Given the description of an element on the screen output the (x, y) to click on. 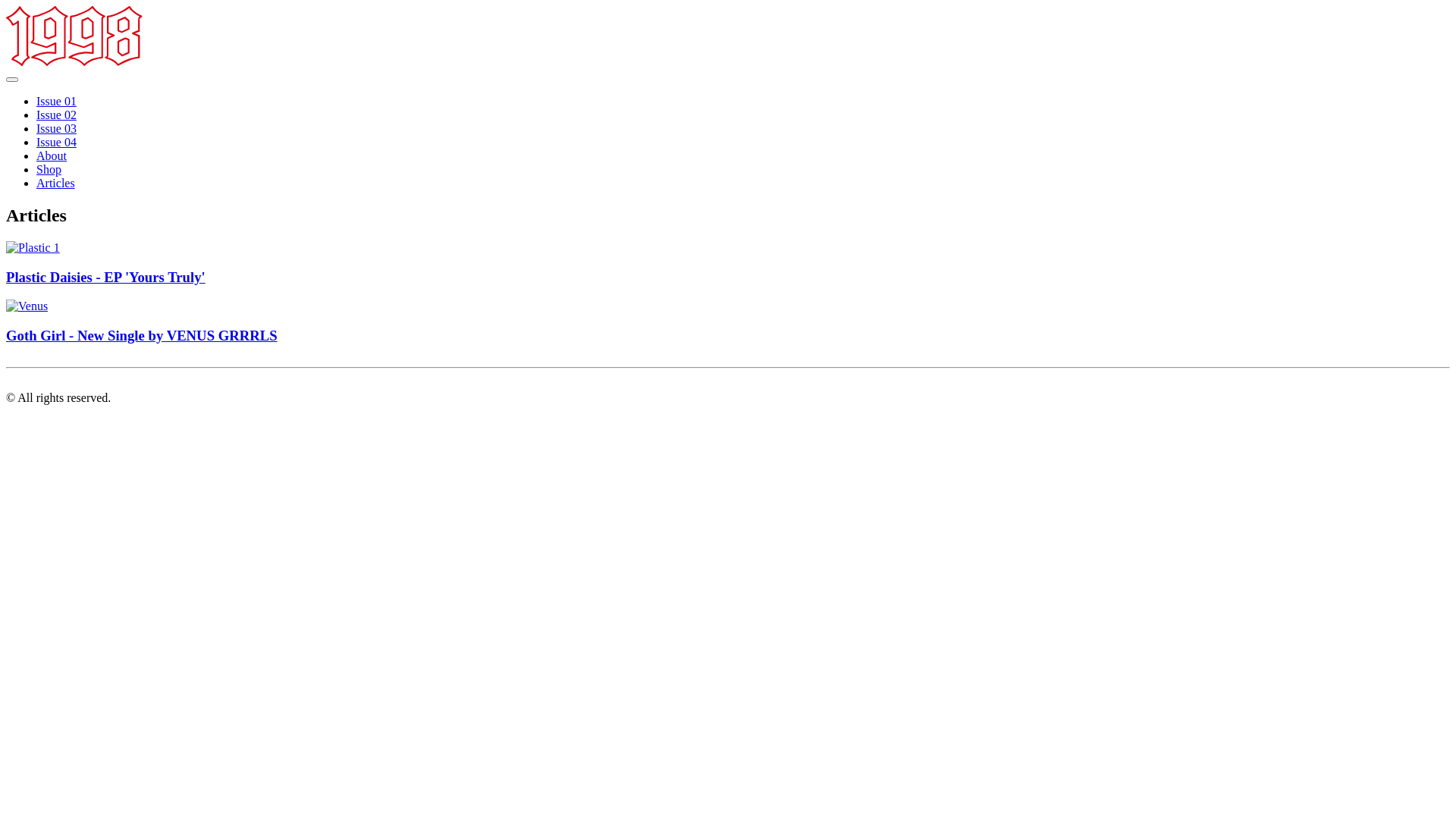
Goth Girl - New Single by VENUS GRRRLS Element type: text (727, 321)
About Element type: text (51, 155)
Articles Element type: text (55, 182)
Issue 03 Element type: text (56, 128)
Issue 02 Element type: text (56, 114)
Issue 01 Element type: text (56, 100)
Shop Element type: text (48, 169)
Plastic Daisies - EP 'Yours Truly' Element type: text (727, 263)
Issue 04 Element type: text (56, 141)
